Given the description of an element on the screen output the (x, y) to click on. 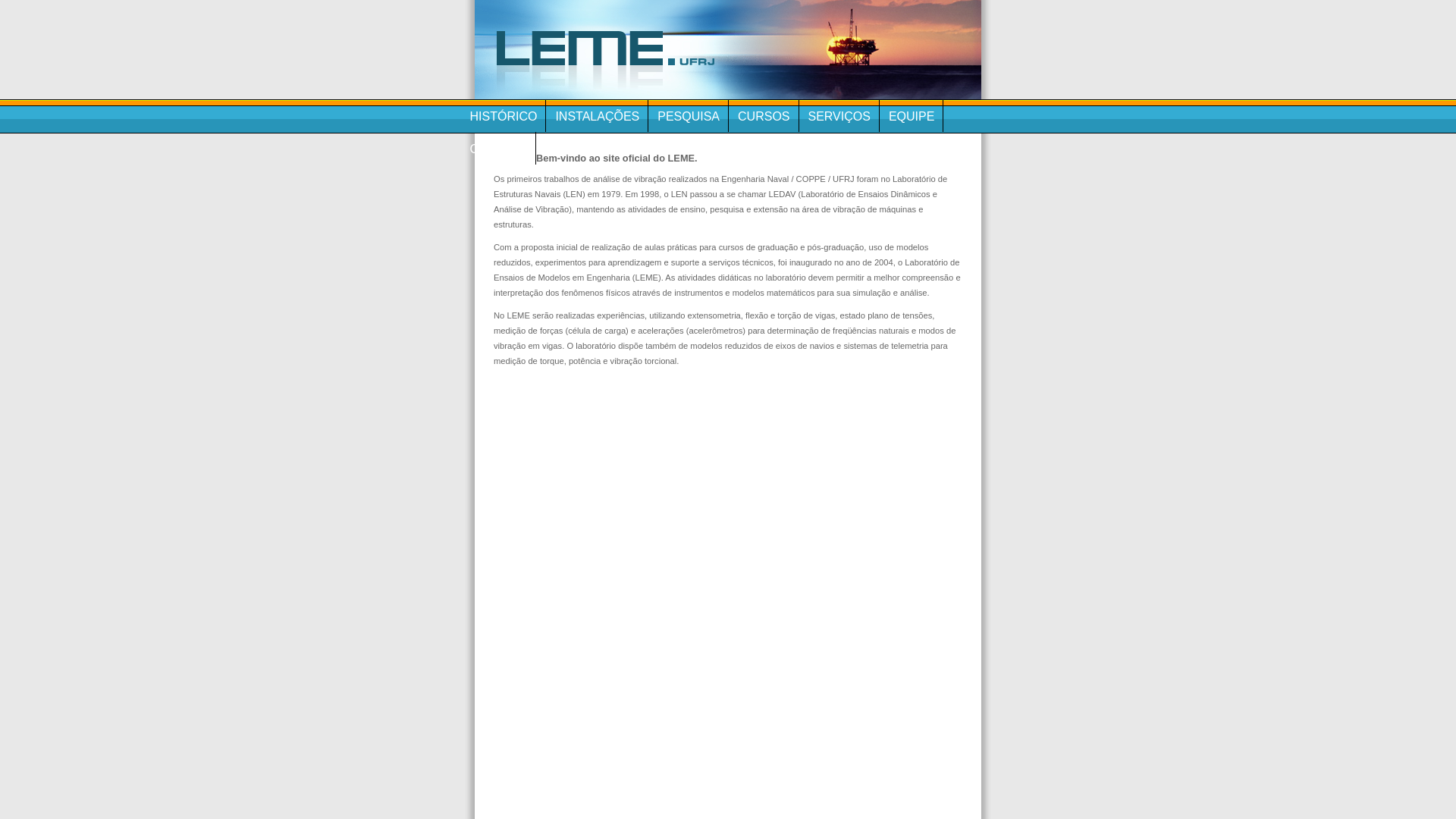
LEME Element type: text (727, 49)
CONTATO Element type: text (498, 147)
EQUIPE Element type: text (911, 115)
CURSOS Element type: text (763, 115)
PESQUISA Element type: text (688, 115)
